Given the description of an element on the screen output the (x, y) to click on. 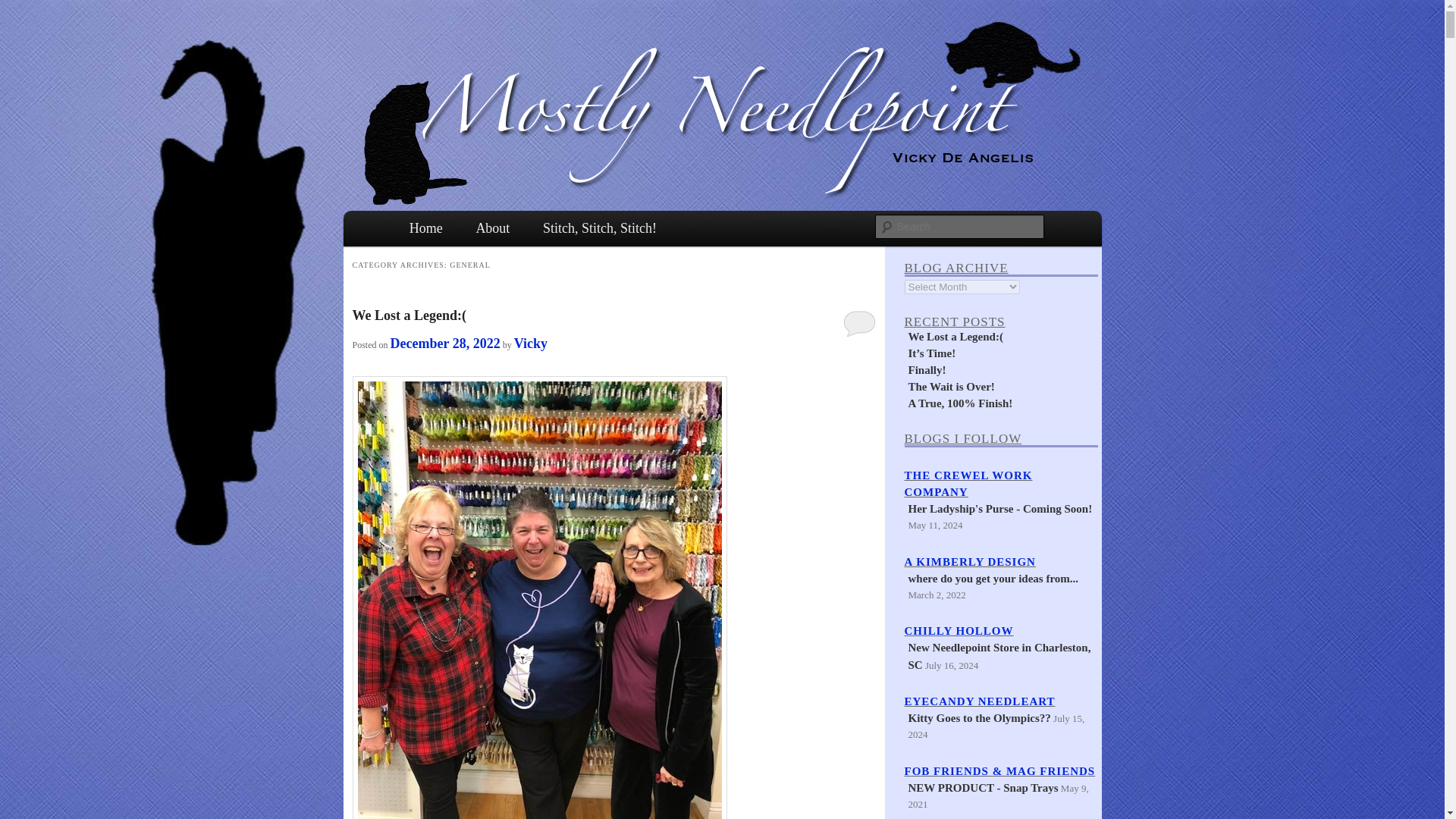
December 28, 2022 (445, 343)
View all posts by Vicky (530, 343)
Search (24, 8)
7:15 pm (445, 343)
Home (426, 228)
Vicky (530, 343)
Mostly Needlepoint (494, 262)
About (493, 228)
Stitch, Stitch, Stitch! (598, 228)
Mostly Needlepoint (494, 262)
